Given the description of an element on the screen output the (x, y) to click on. 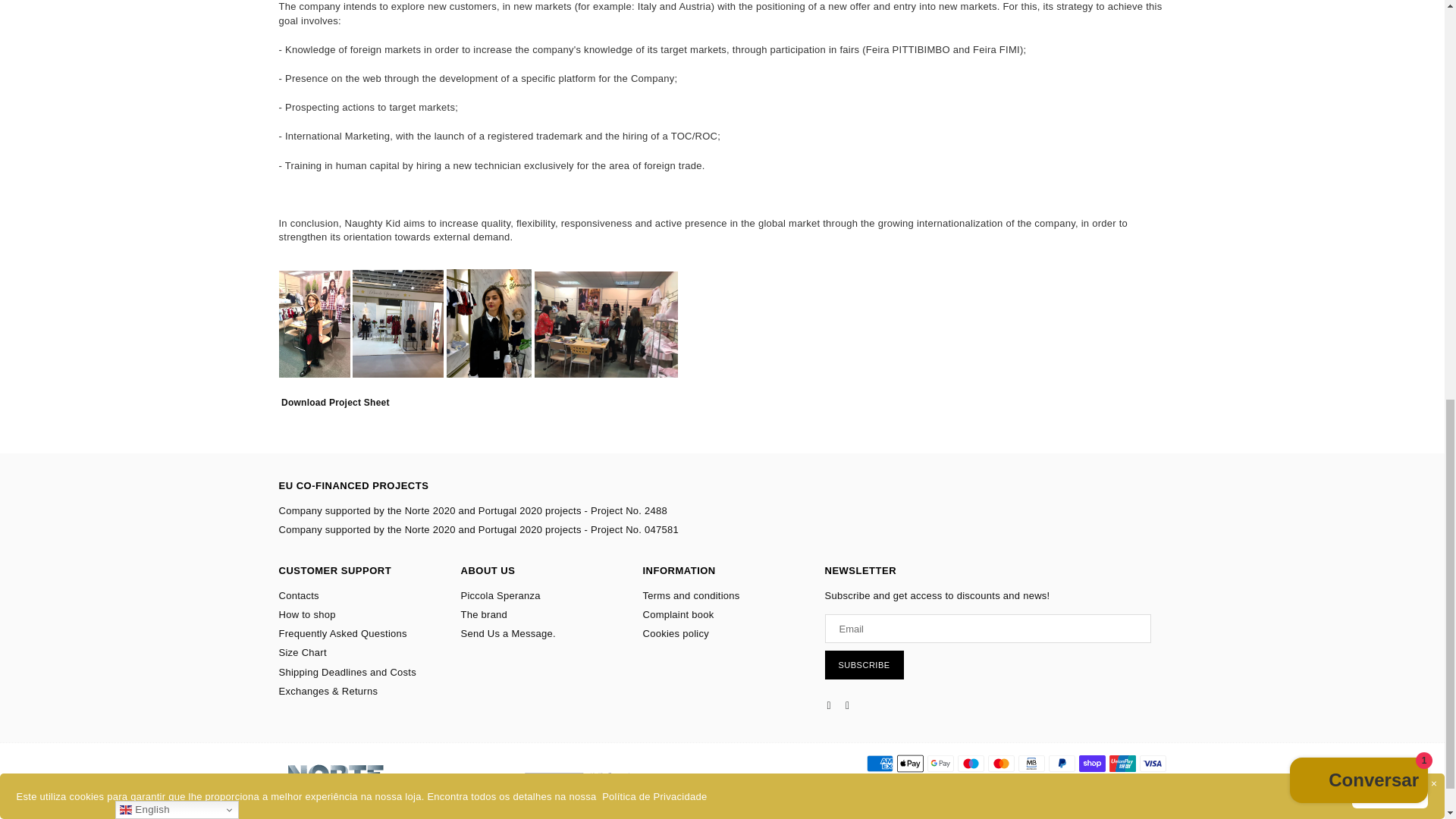
Shop pay (1091, 763)
Teacher (970, 763)
American Express (879, 763)
Mastercard (1000, 763)
Google Pay (939, 763)
Apple Pay (909, 763)
Union Pay (1121, 763)
ATM (1030, 763)
Visa (1152, 763)
PayPal (1061, 763)
